Given the description of an element on the screen output the (x, y) to click on. 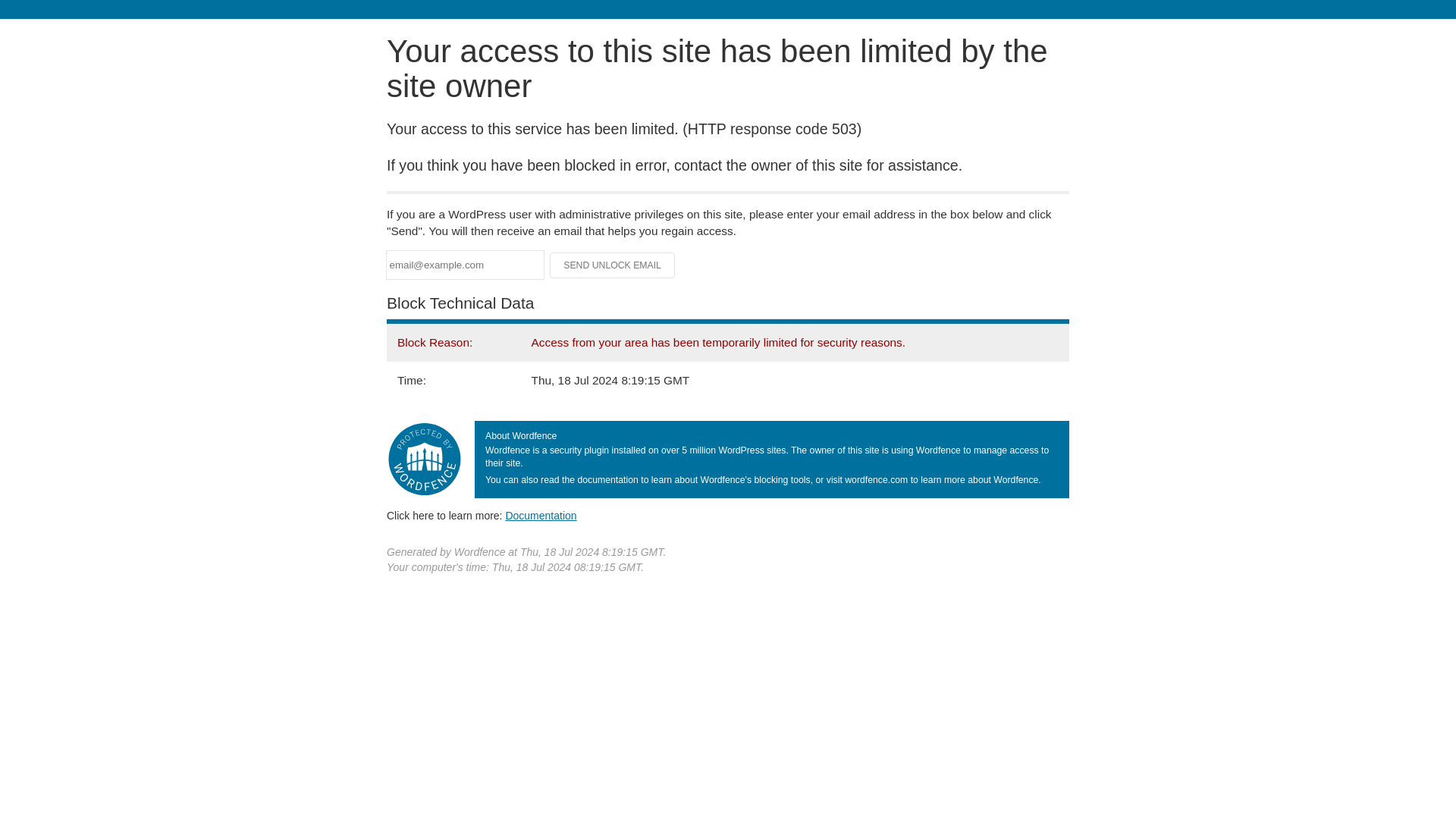
Send Unlock Email (612, 265)
Documentation (540, 515)
Send Unlock Email (612, 265)
